Given the description of an element on the screen output the (x, y) to click on. 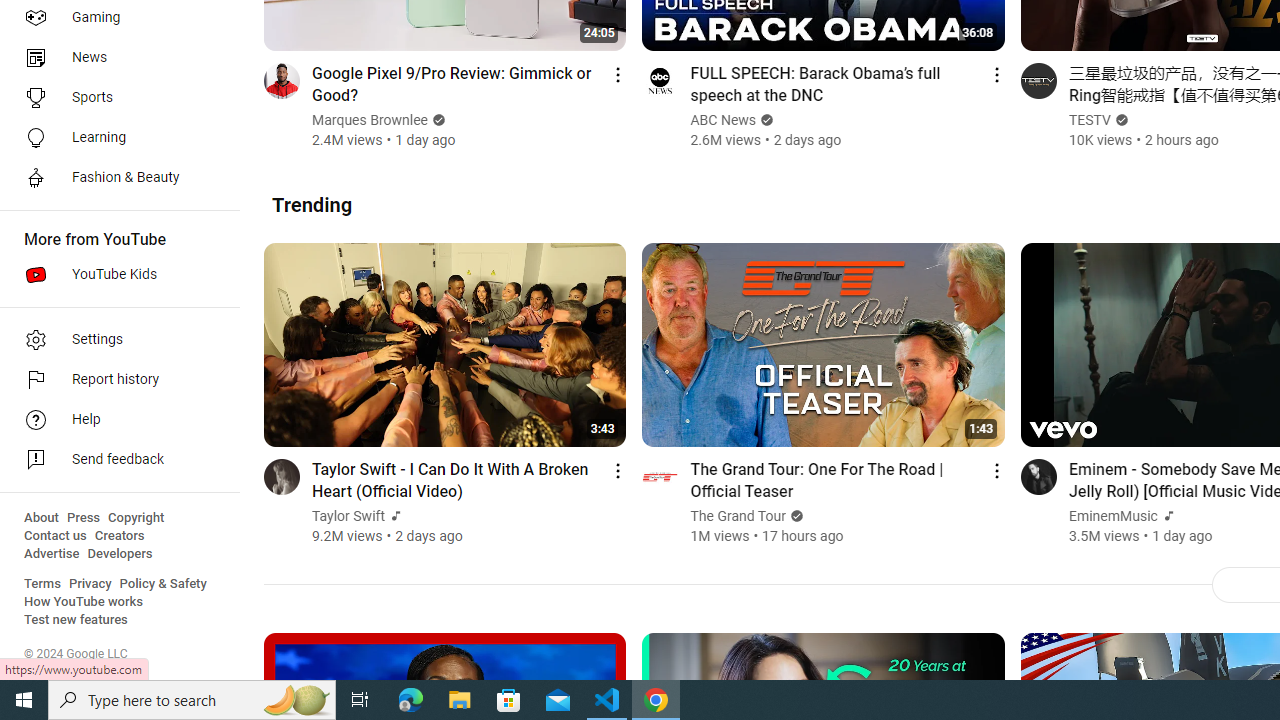
EminemMusic (1113, 516)
Official Artist Channel (1166, 516)
Test new features (76, 620)
Send feedback (113, 459)
Press (83, 518)
YouTube Kids (113, 274)
Go to channel (1038, 476)
Trending (312, 204)
Developers (120, 554)
